Given the description of an element on the screen output the (x, y) to click on. 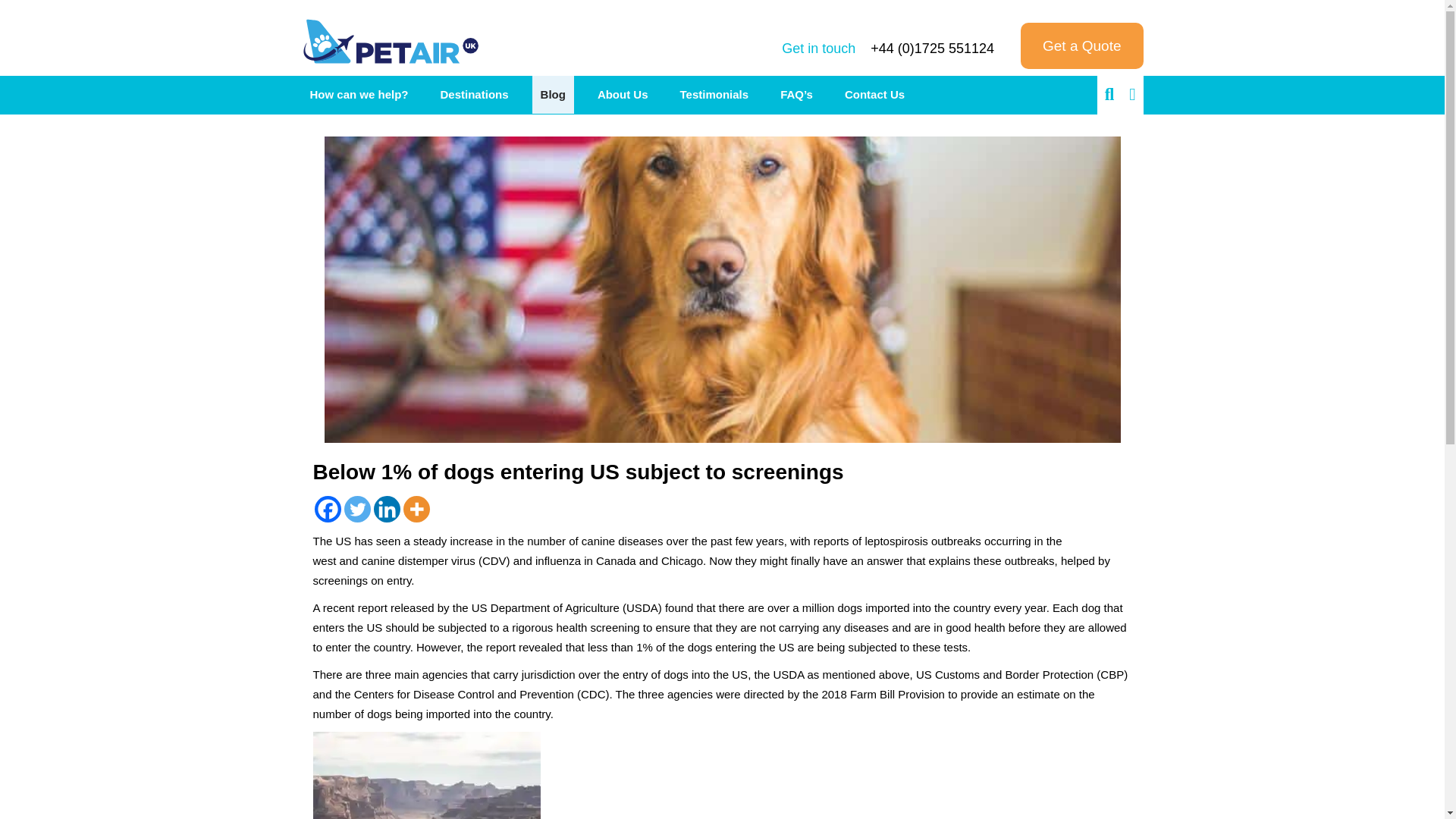
About Us (622, 94)
Destinations (474, 94)
Get a Quote (1081, 45)
Facebook (327, 509)
How can we help? (358, 94)
Get a quote (1081, 45)
Twitter (357, 509)
Contact Us (873, 94)
Testimonials (714, 94)
leptospirosis outbreaks occurring in the west (687, 550)
